Given the description of an element on the screen output the (x, y) to click on. 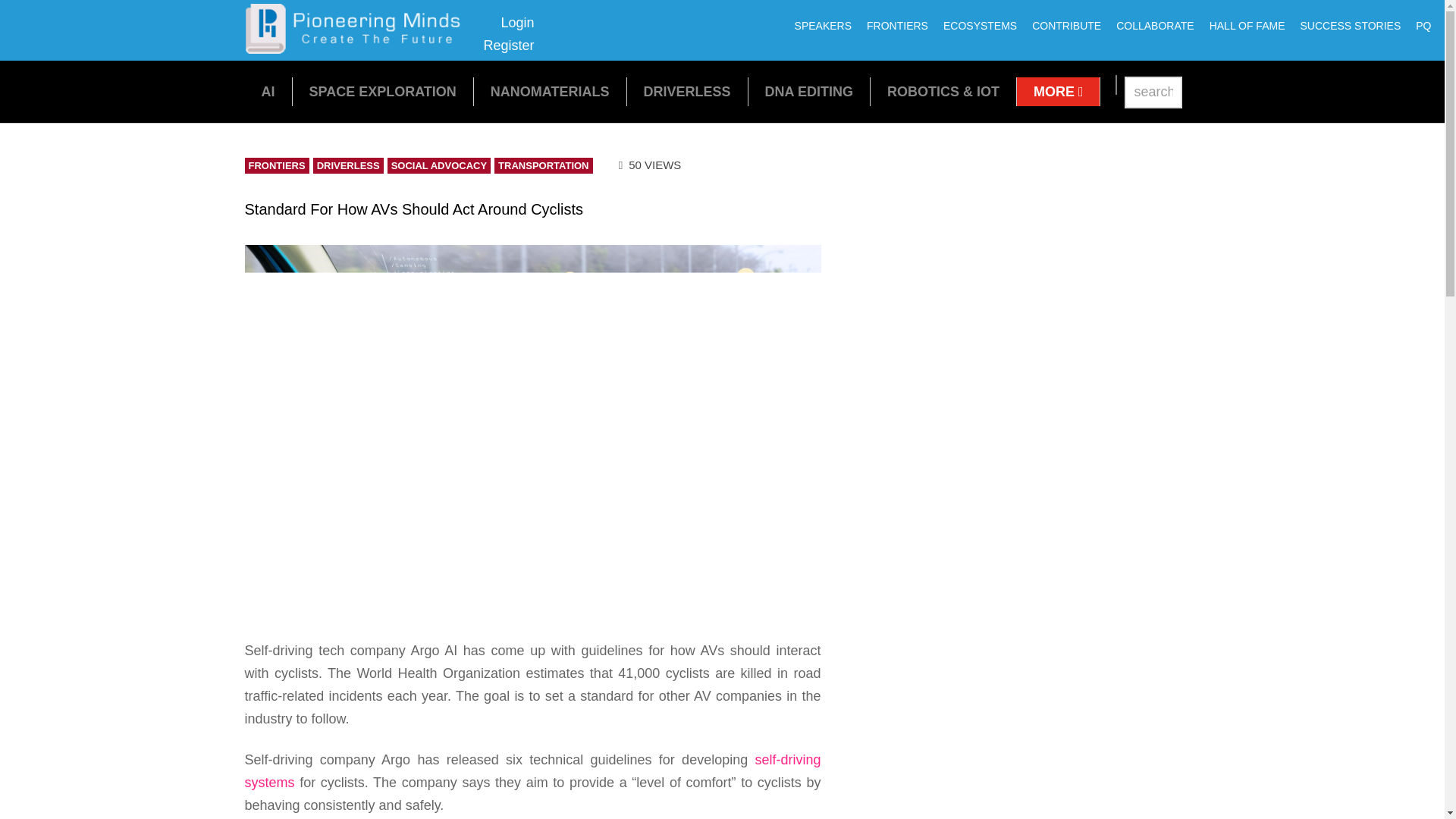
MORE (1058, 91)
ECOSYSTEMS (980, 26)
NANOMATERIALS (550, 91)
DRIVERLESS (686, 91)
SUCCESS STORIES (1349, 26)
PQ (508, 34)
Pioneering Minds (1422, 26)
CONTRIBUTE (357, 48)
FRONTIERS (1066, 26)
